Given the description of an element on the screen output the (x, y) to click on. 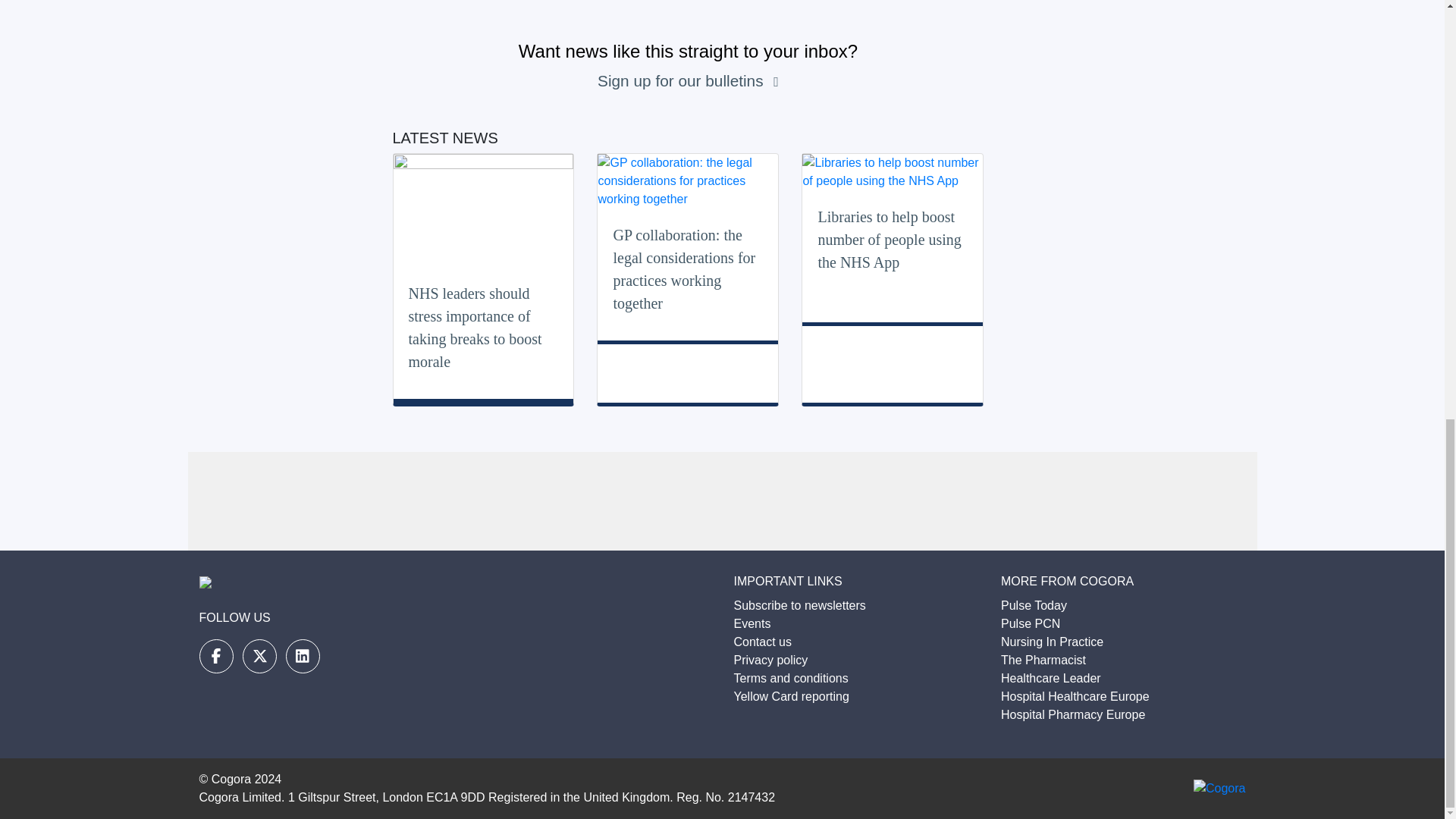
Privacy policy (770, 659)
Pulse Today (1034, 604)
Sign up for our bulletins (681, 80)
Contact us (762, 641)
Hospital Healthcare Europe (1075, 696)
Pulse PCN (1030, 623)
Subscribe to newsletters (799, 604)
Healthcare Leader (1050, 677)
Terms and conditions (790, 677)
Yellow Card reporting (790, 696)
